Given the description of an element on the screen output the (x, y) to click on. 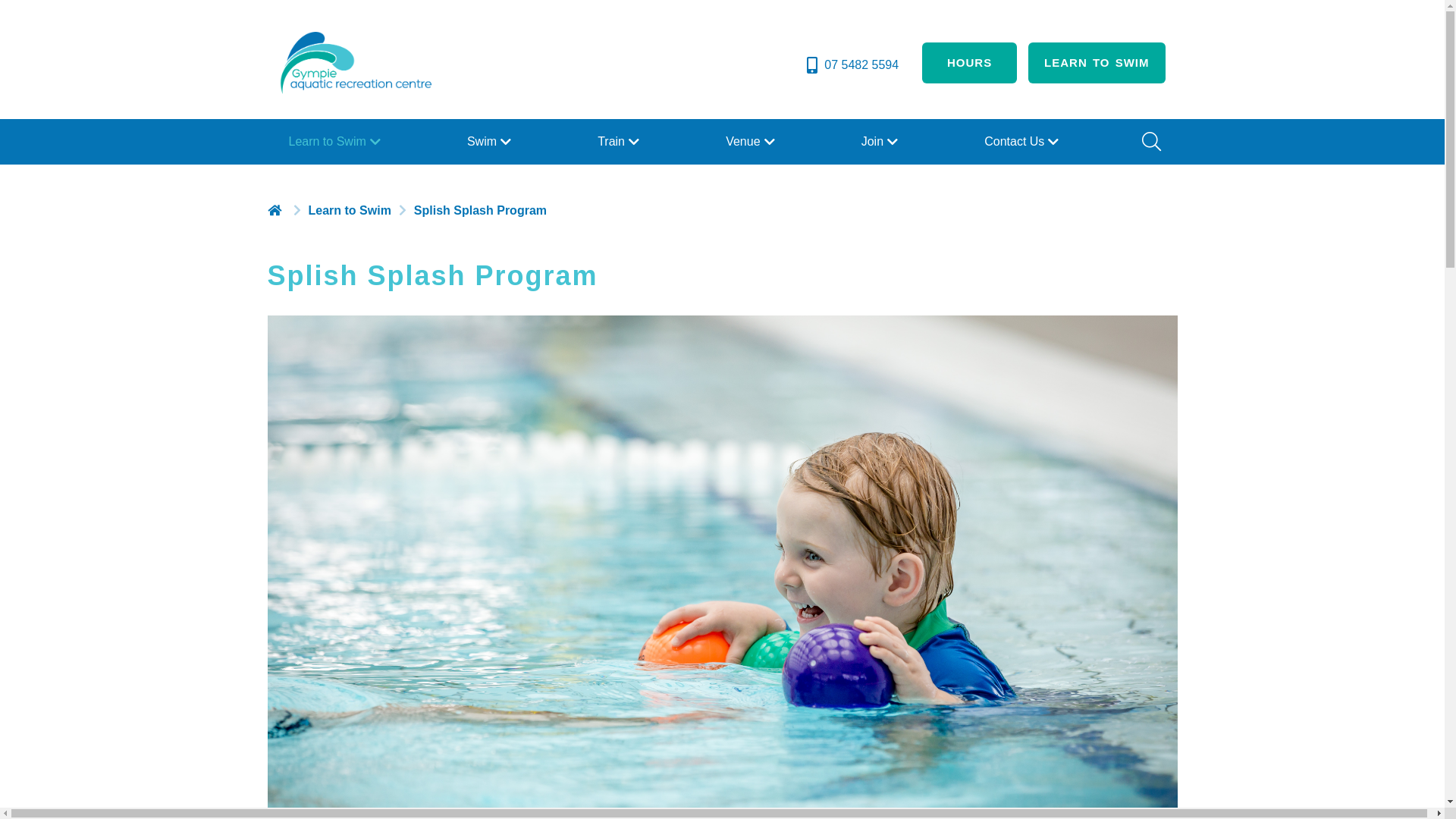
Search Element type: text (1150, 141)
Join Element type: text (881, 141)
  Element type: text (275, 209)
Train Element type: text (620, 141)
HOURS Element type: text (969, 62)
Contact Us Element type: text (1023, 141)
LEARN TO SWIM Element type: text (1096, 62)
Learn to Swim Element type: text (335, 141)
Venue Element type: text (751, 141)
07 5482 5594 Element type: text (850, 65)
Swim Element type: text (490, 141)
